Given the description of an element on the screen output the (x, y) to click on. 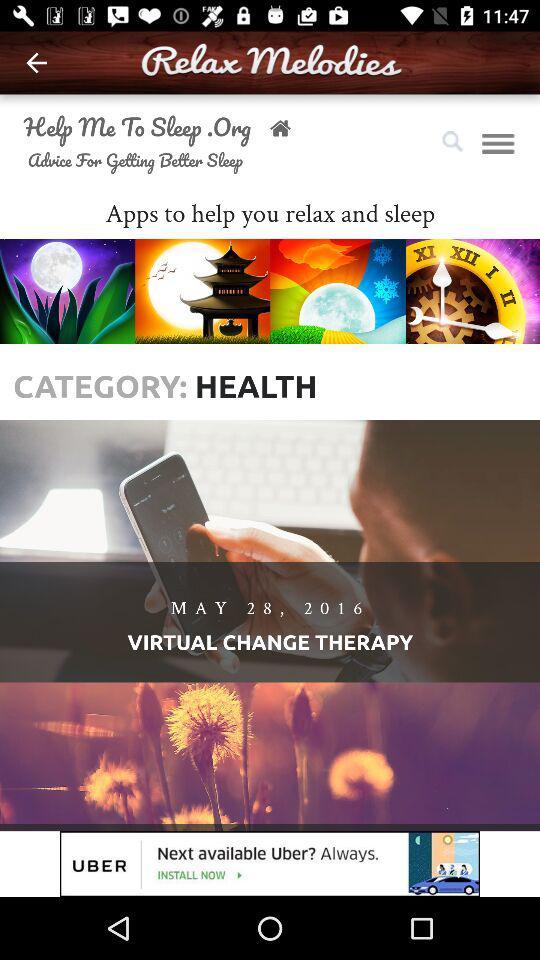
open advertisement (270, 864)
